Given the description of an element on the screen output the (x, y) to click on. 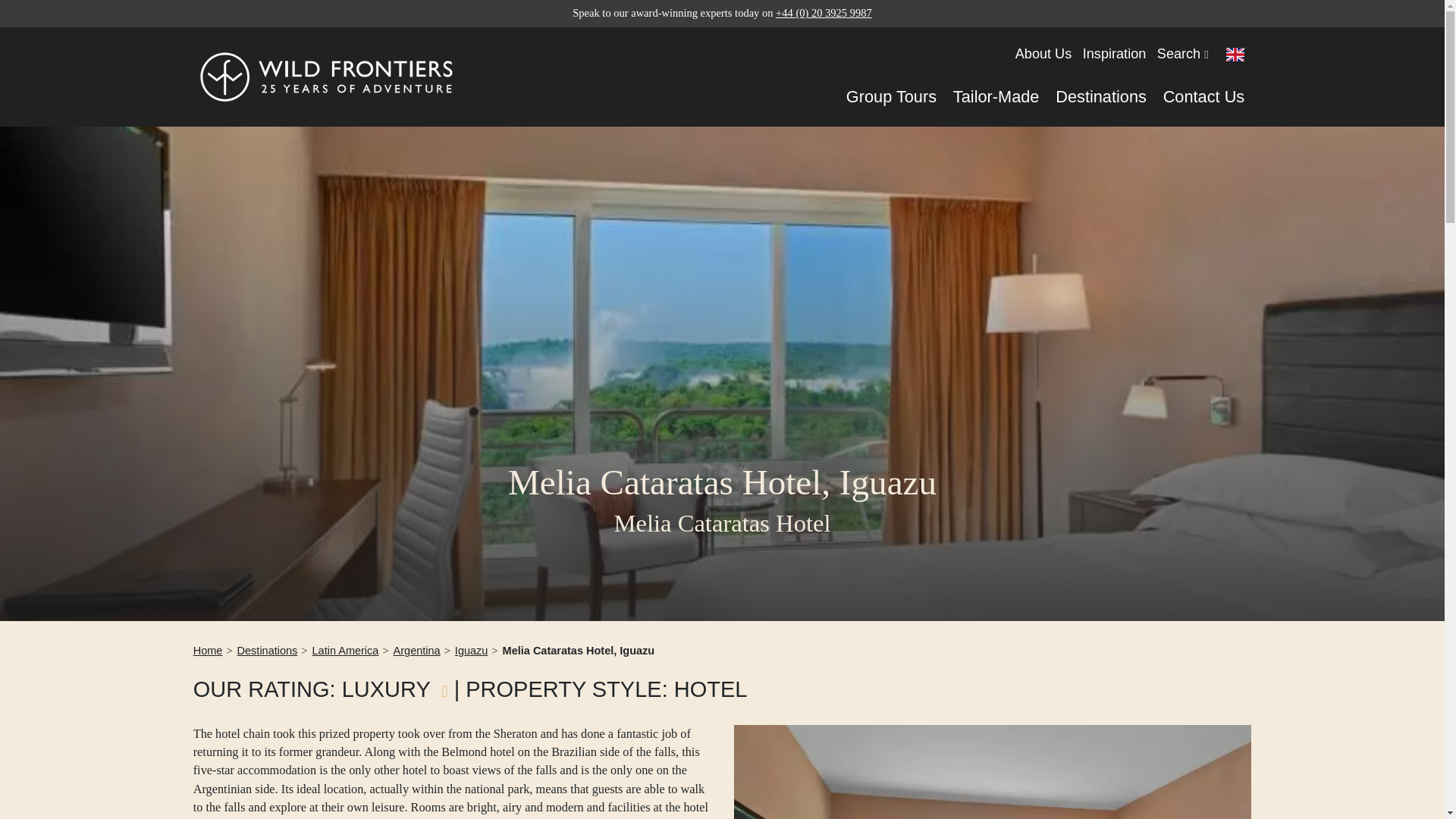
Home (207, 651)
Group Tours (890, 97)
Destinations (267, 651)
Latin America (345, 651)
About Us (1042, 54)
Tailor-Made (996, 97)
Iguazu (470, 651)
Contact Us (1203, 97)
Inspiration (1115, 54)
Search (1182, 54)
